Given the description of an element on the screen output the (x, y) to click on. 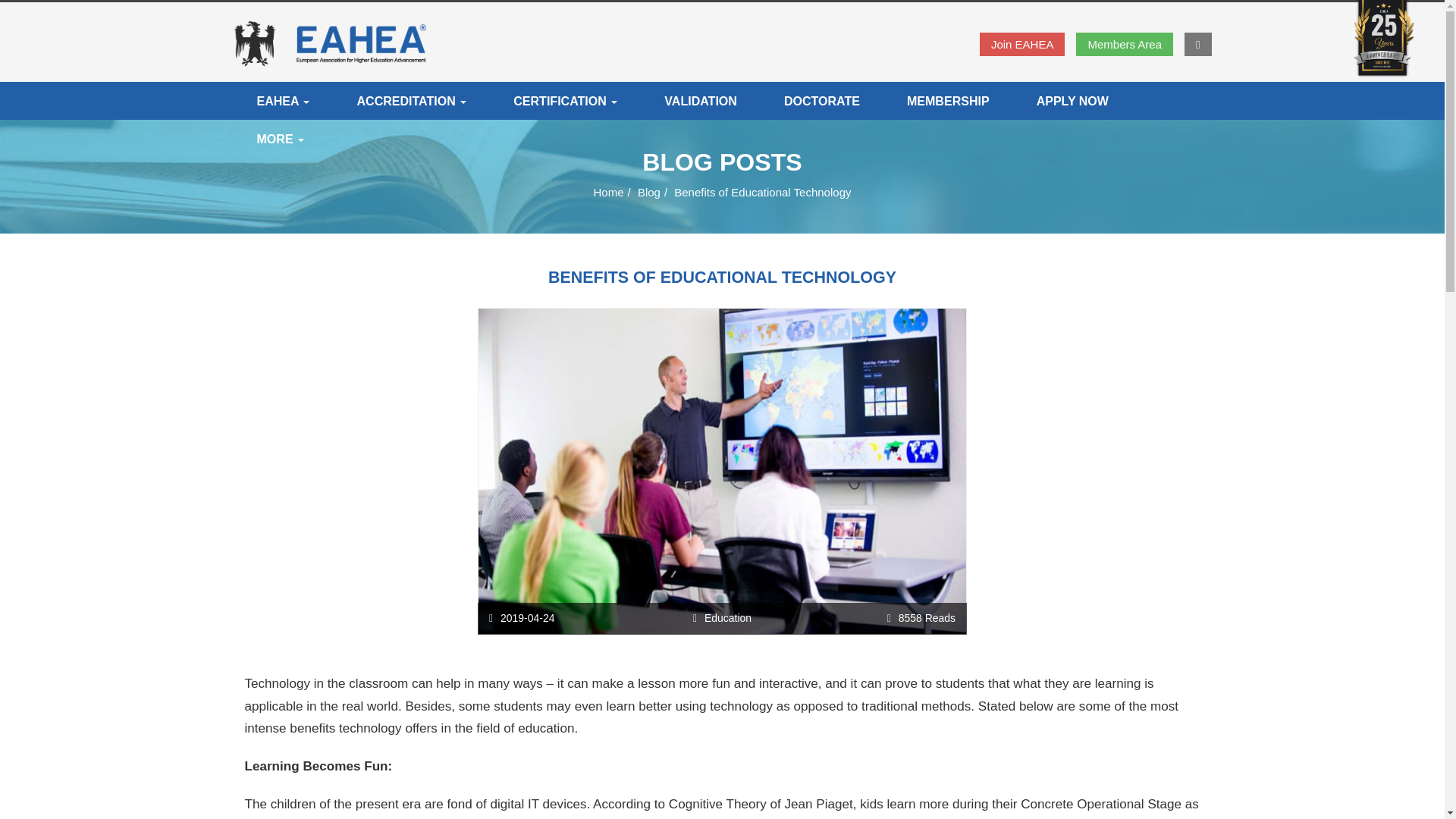
DOCTORATE (821, 100)
Join EAHEA (1022, 44)
Members Area (1124, 44)
MEMBERSHIP (948, 100)
MORE (280, 138)
APPLY NOW (1072, 100)
ACCREDITATION (411, 100)
CERTIFICATION (564, 100)
VALIDATION (700, 100)
EAHEA (282, 100)
